Given the description of an element on the screen output the (x, y) to click on. 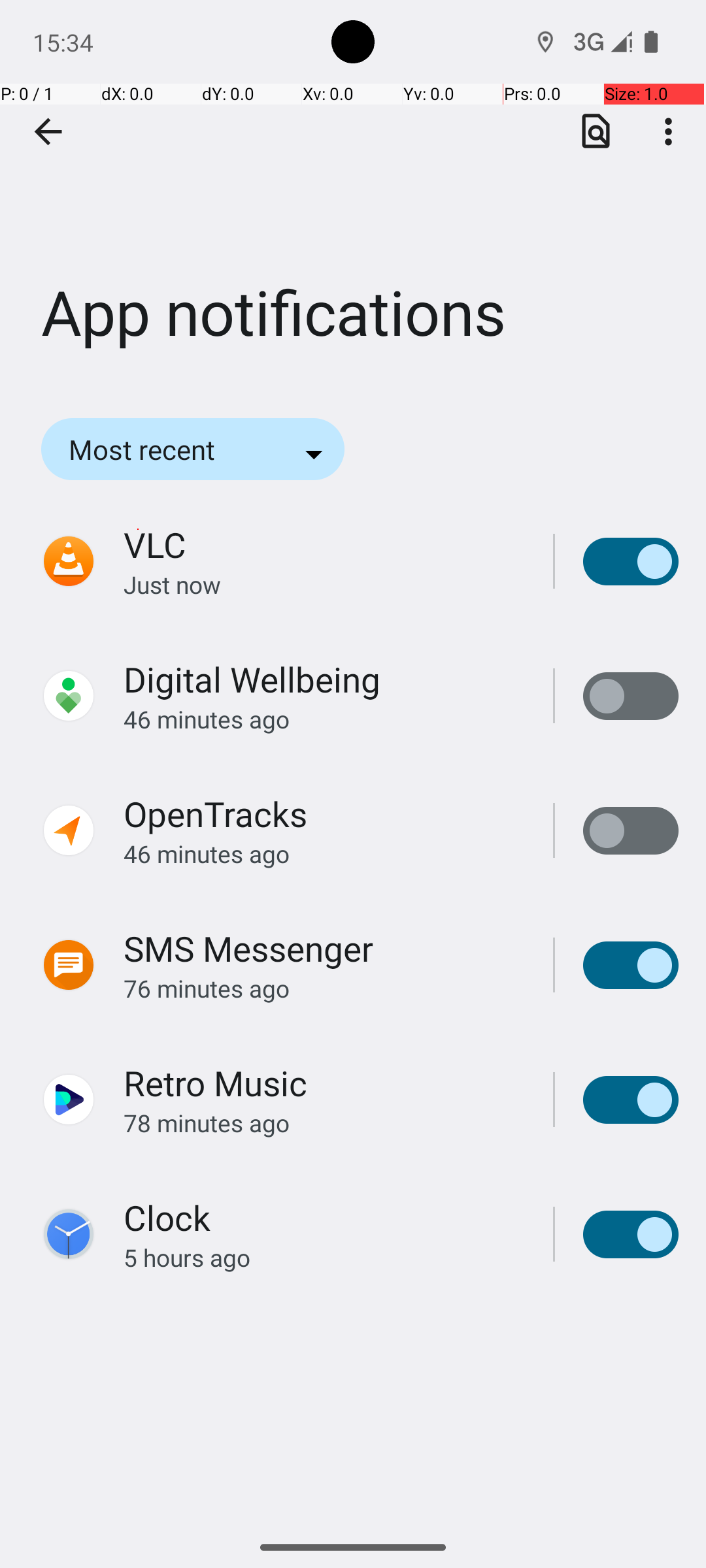
App notifications Element type: android.widget.FrameLayout (353, 195)
Most recent Element type: android.widget.TextView (159, 448)
Just now Element type: android.widget.TextView (324, 584)
Digital Wellbeing Element type: android.widget.TextView (252, 678)
46 minutes ago Element type: android.widget.TextView (324, 718)
76 minutes ago Element type: android.widget.TextView (324, 987)
78 minutes ago Element type: android.widget.TextView (324, 1122)
5 hours ago Element type: android.widget.TextView (324, 1257)
